Given the description of an element on the screen output the (x, y) to click on. 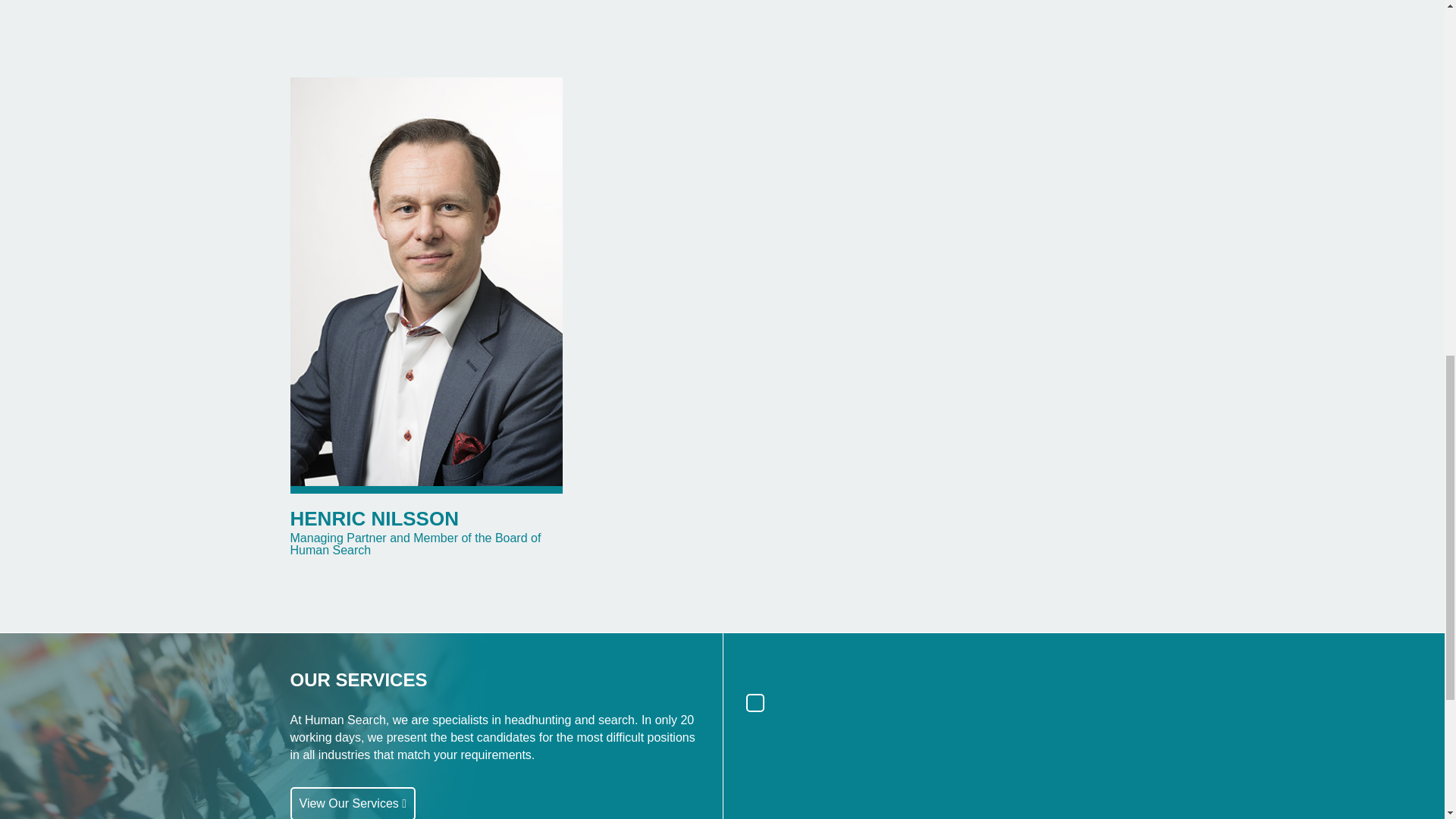
View Our Services (351, 803)
Our Services (351, 803)
